Given the description of an element on the screen output the (x, y) to click on. 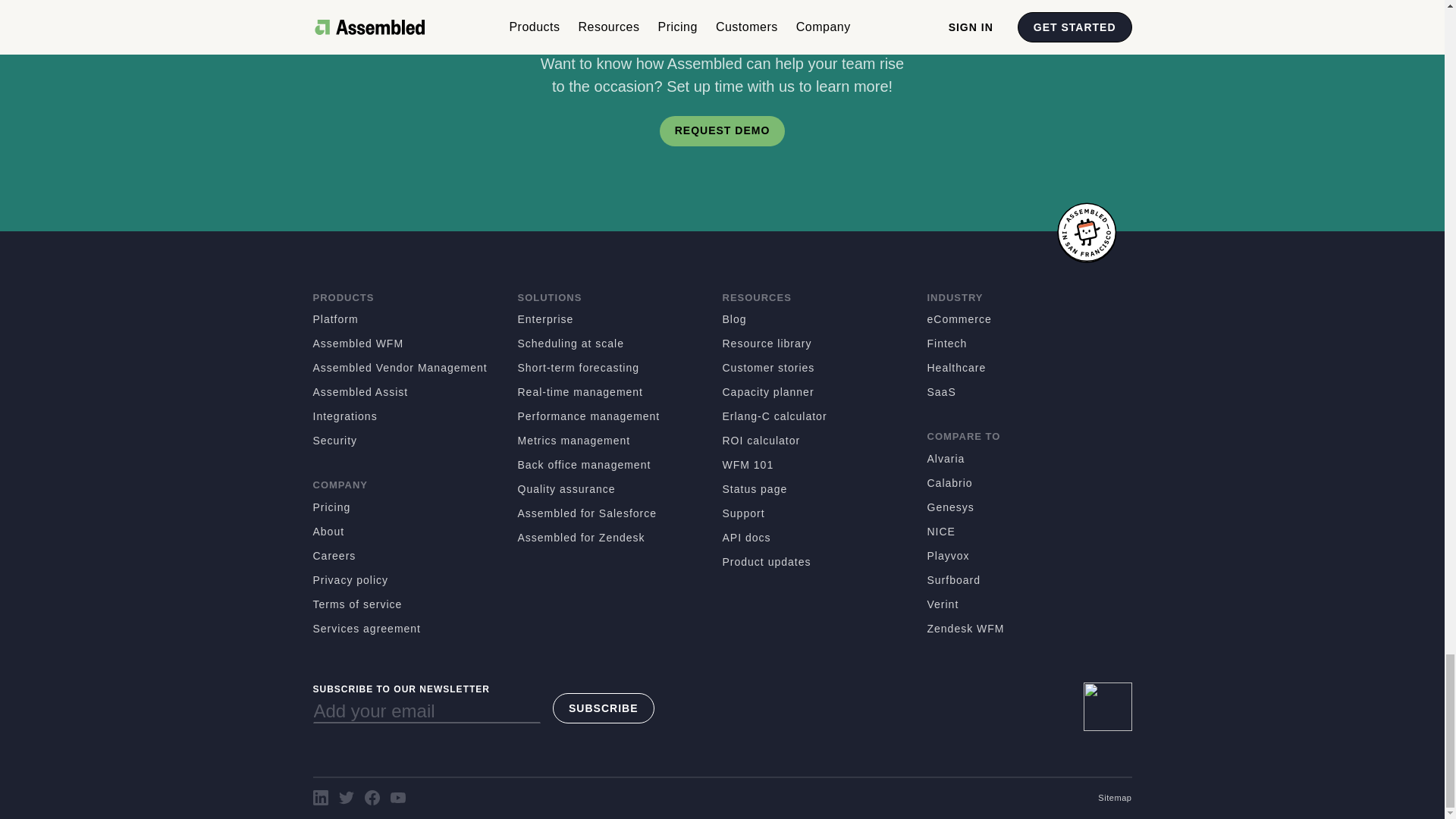
subscribe (603, 707)
